Given the description of an element on the screen output the (x, y) to click on. 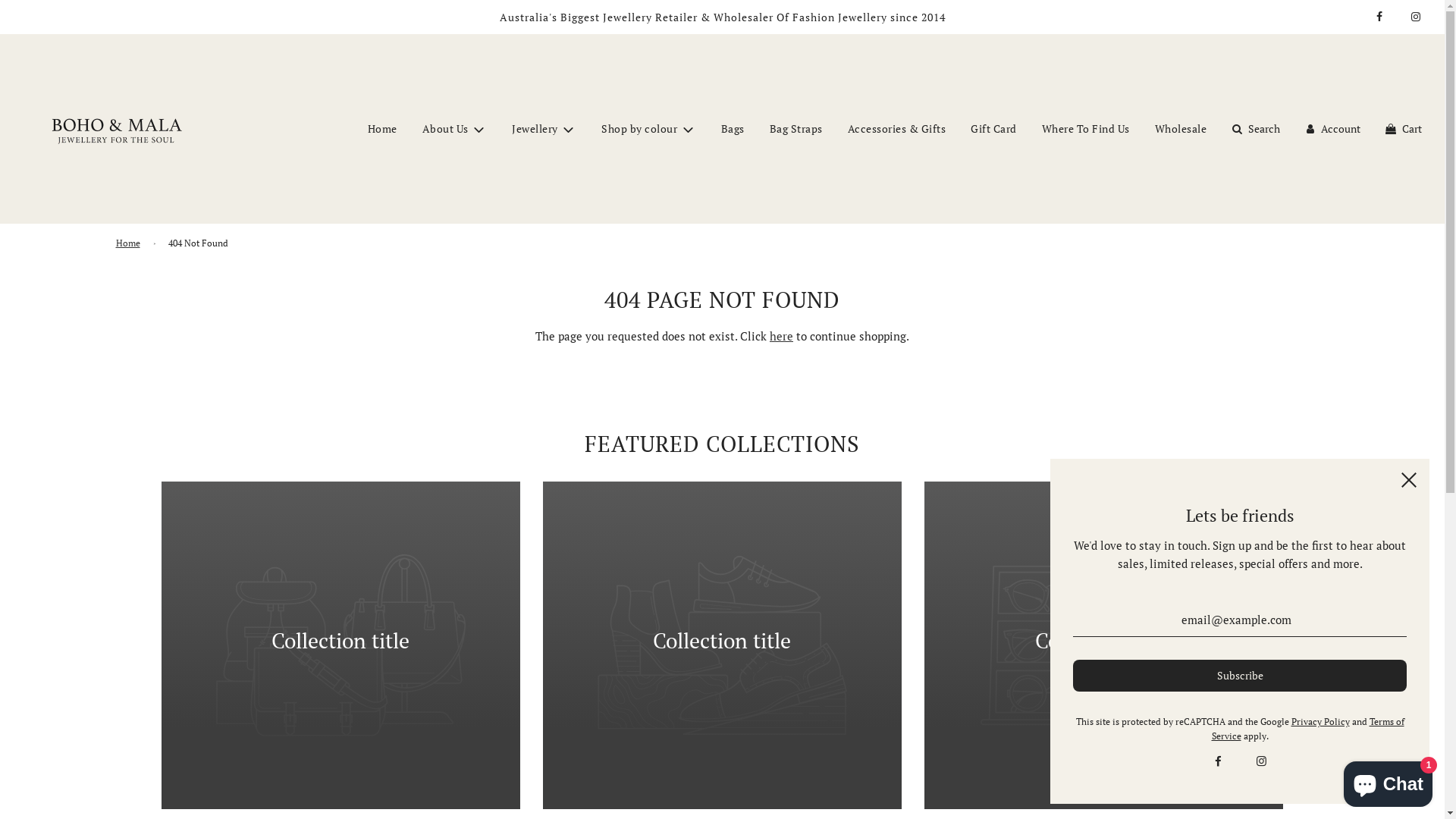
Home Element type: text (129, 242)
Gift Card Element type: text (993, 128)
Bags Element type: text (732, 128)
Bag Straps Element type: text (796, 128)
Search Element type: text (1254, 128)
Wholesale Element type: text (1180, 128)
Home Element type: text (382, 128)
here Element type: text (781, 335)
Accessories & Gifts Element type: text (896, 128)
Jewellery Element type: text (543, 129)
About Us Element type: text (454, 129)
Account Element type: text (1331, 128)
Shop by colour Element type: text (648, 129)
Shopify online store chat Element type: hover (1388, 780)
Where To Find Us Element type: text (1085, 128)
Cart Element type: text (1402, 128)
